Given the description of an element on the screen output the (x, y) to click on. 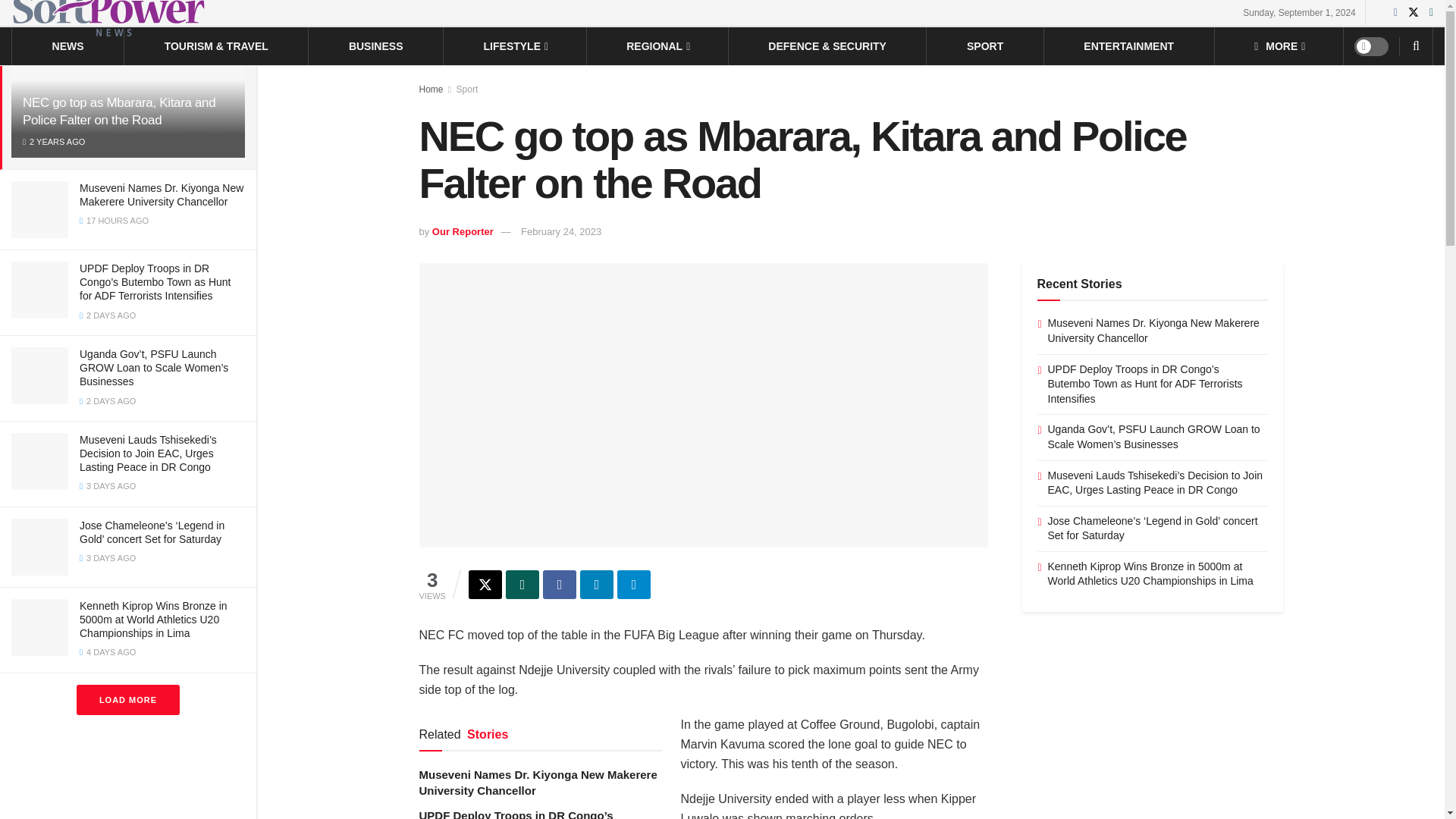
LIFESTYLE (515, 46)
NEC go top as Mbarara, Kitara and Police Falter on the Road (119, 111)
BUSINESS (376, 46)
REGIONAL (656, 46)
ENTERTAINMENT (1128, 46)
LOAD MORE (128, 699)
NEWS (68, 46)
SPORT (984, 46)
